Given the description of an element on the screen output the (x, y) to click on. 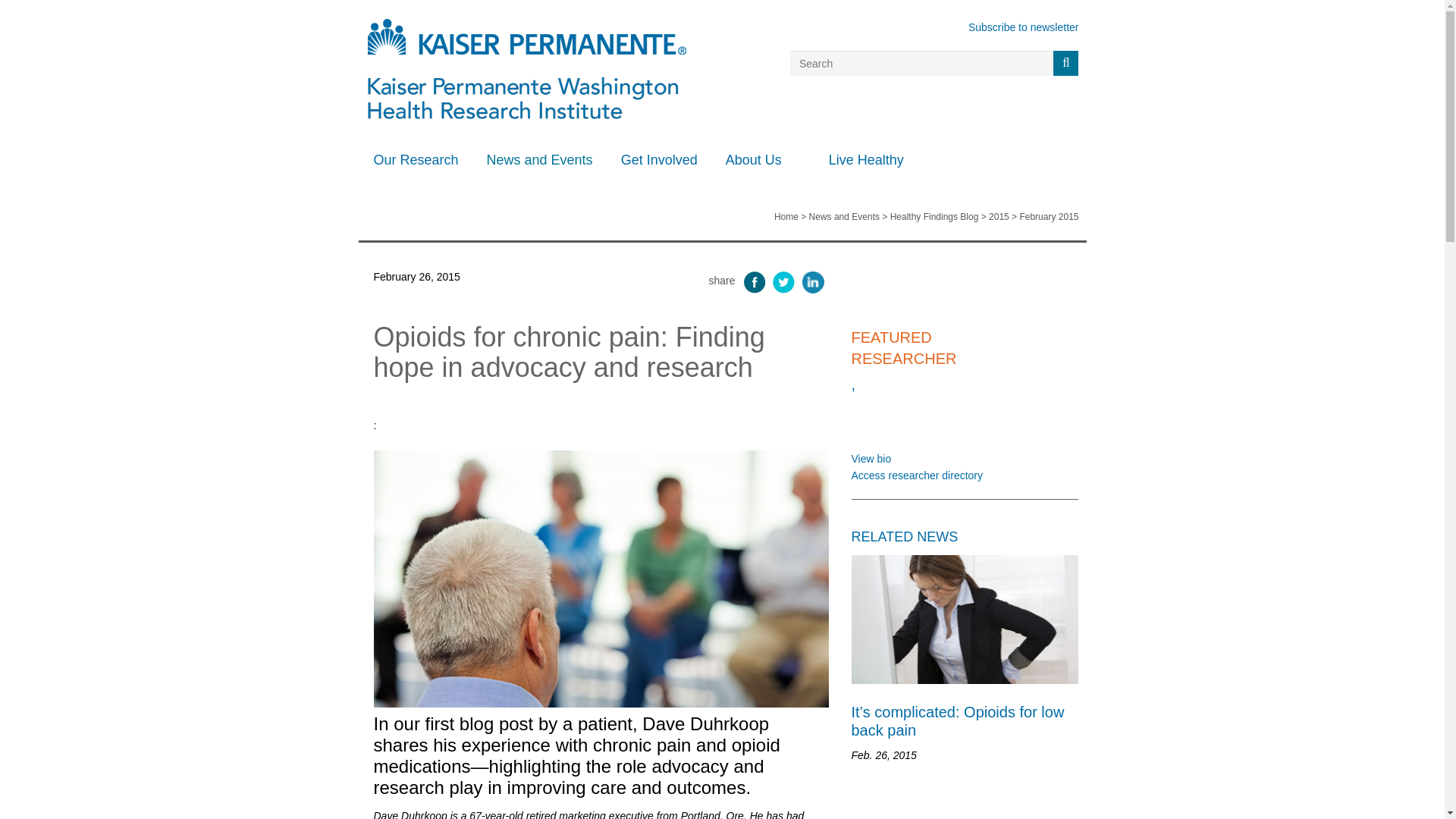
Subscribe to newsletter (1023, 27)
Get Involved (665, 159)
News and Events (545, 159)
Our Research (420, 159)
